Given the description of an element on the screen output the (x, y) to click on. 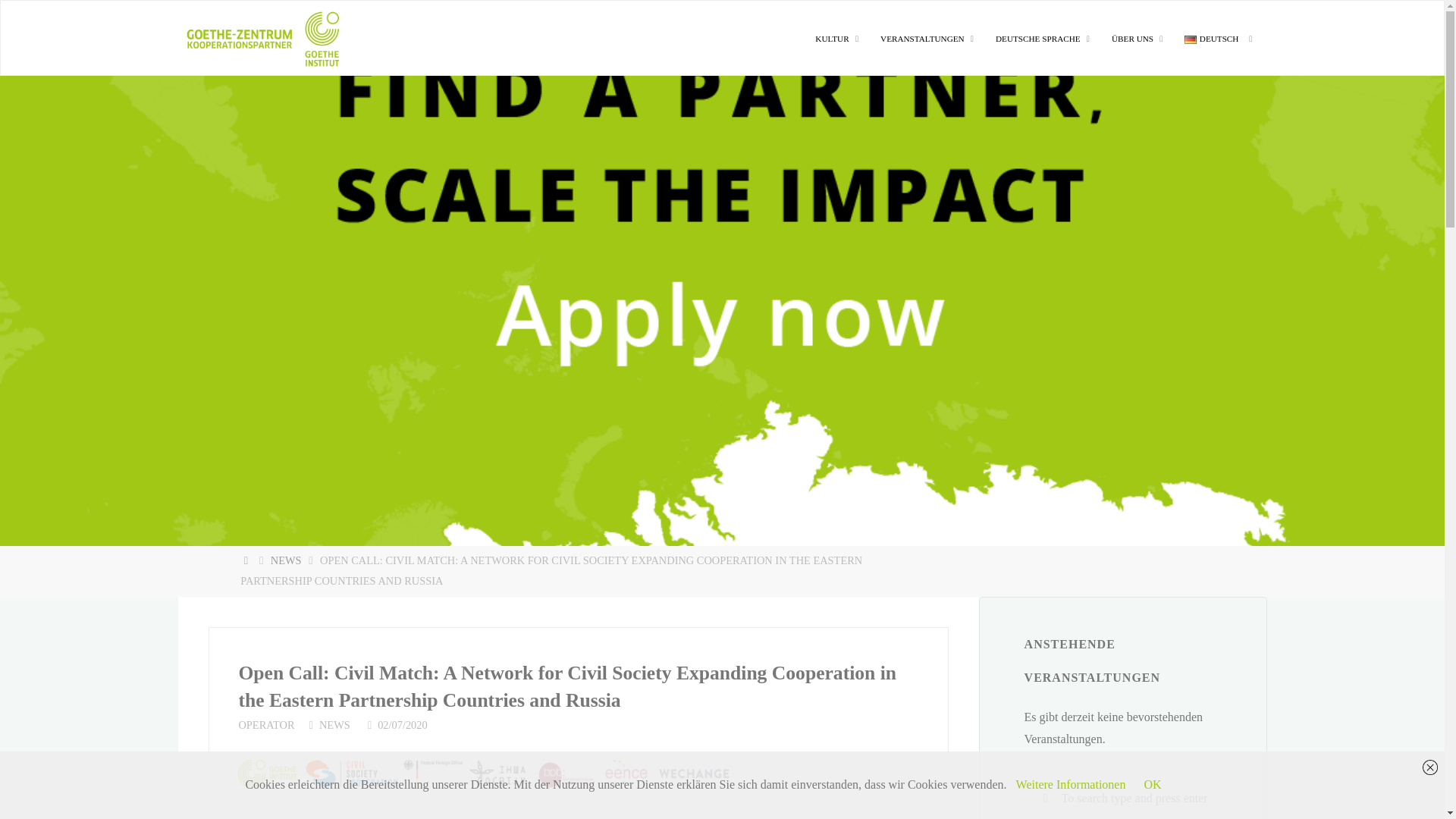
Deutsch (1190, 40)
DEUTSCHE SPRACHE (1039, 38)
View all posts by operator (266, 725)
Home (247, 560)
VERANSTALTUNGEN (923, 38)
Goethe-Zentrum Jerewan (262, 38)
